Given the description of an element on the screen output the (x, y) to click on. 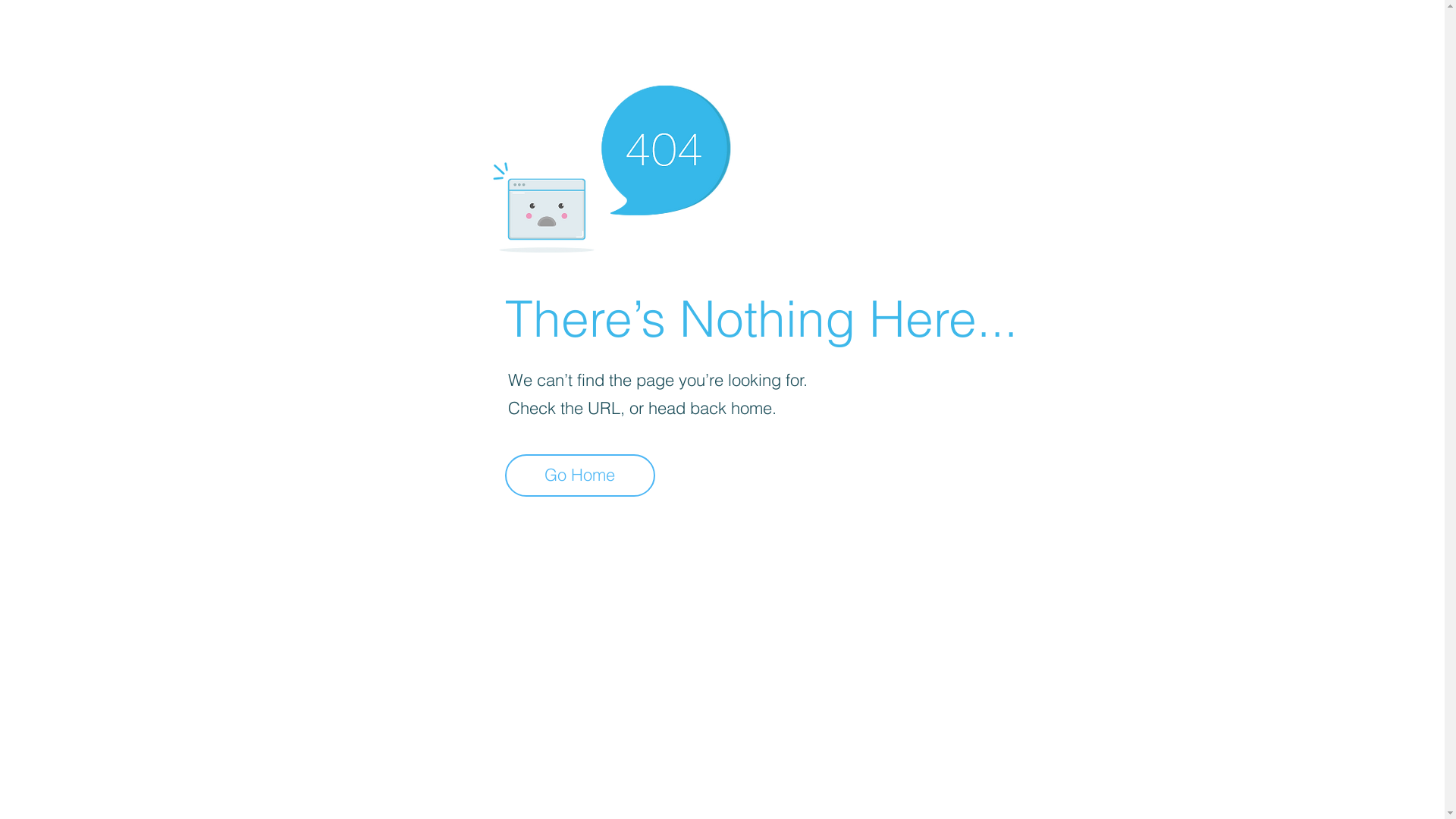
404-icon_2.png Element type: hover (610, 164)
Go Home Element type: text (580, 475)
